Given the description of an element on the screen output the (x, y) to click on. 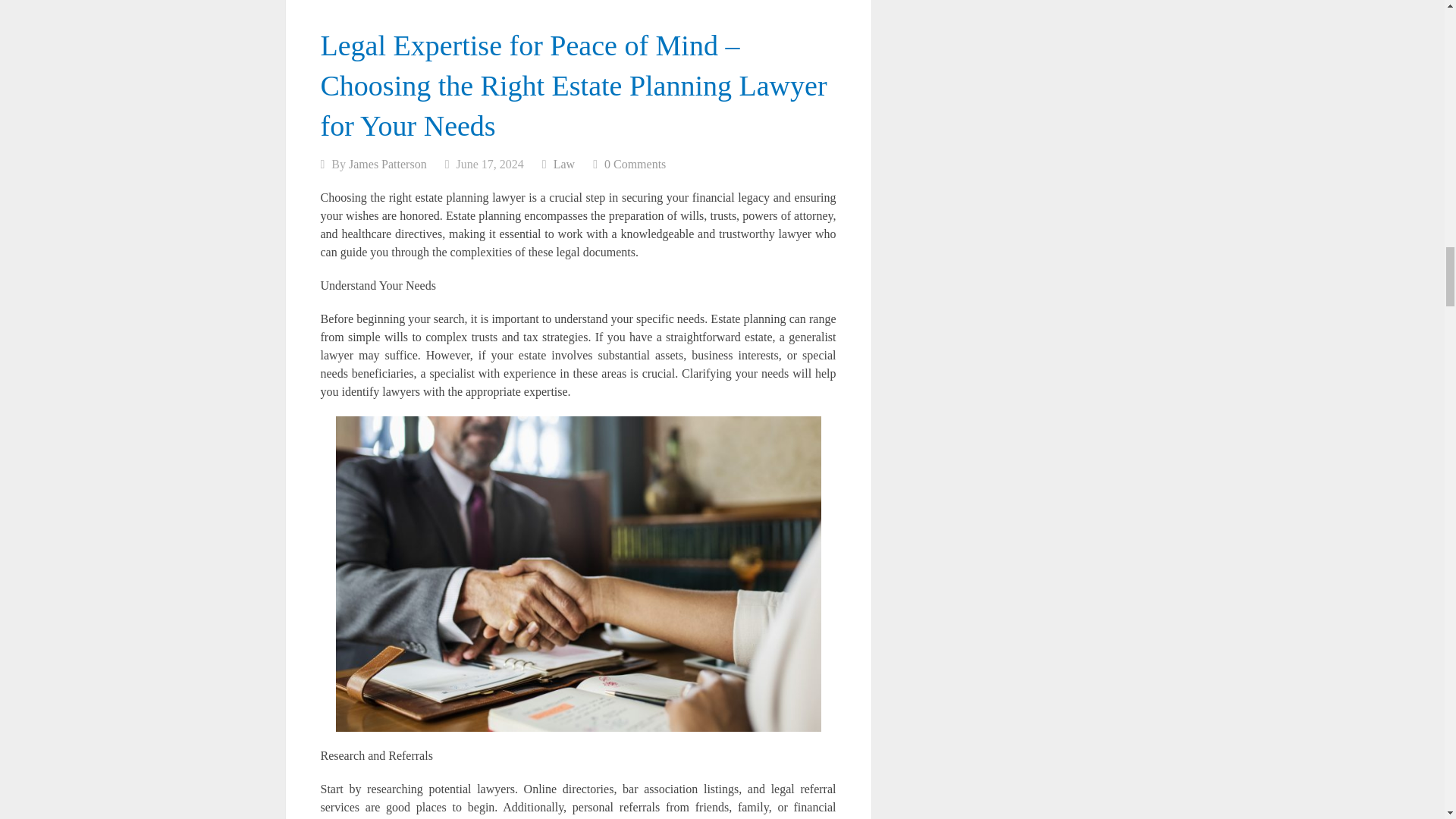
James Patterson (387, 164)
Law (564, 164)
Posts by James Patterson (387, 164)
0 Comments (634, 164)
